Given the description of an element on the screen output the (x, y) to click on. 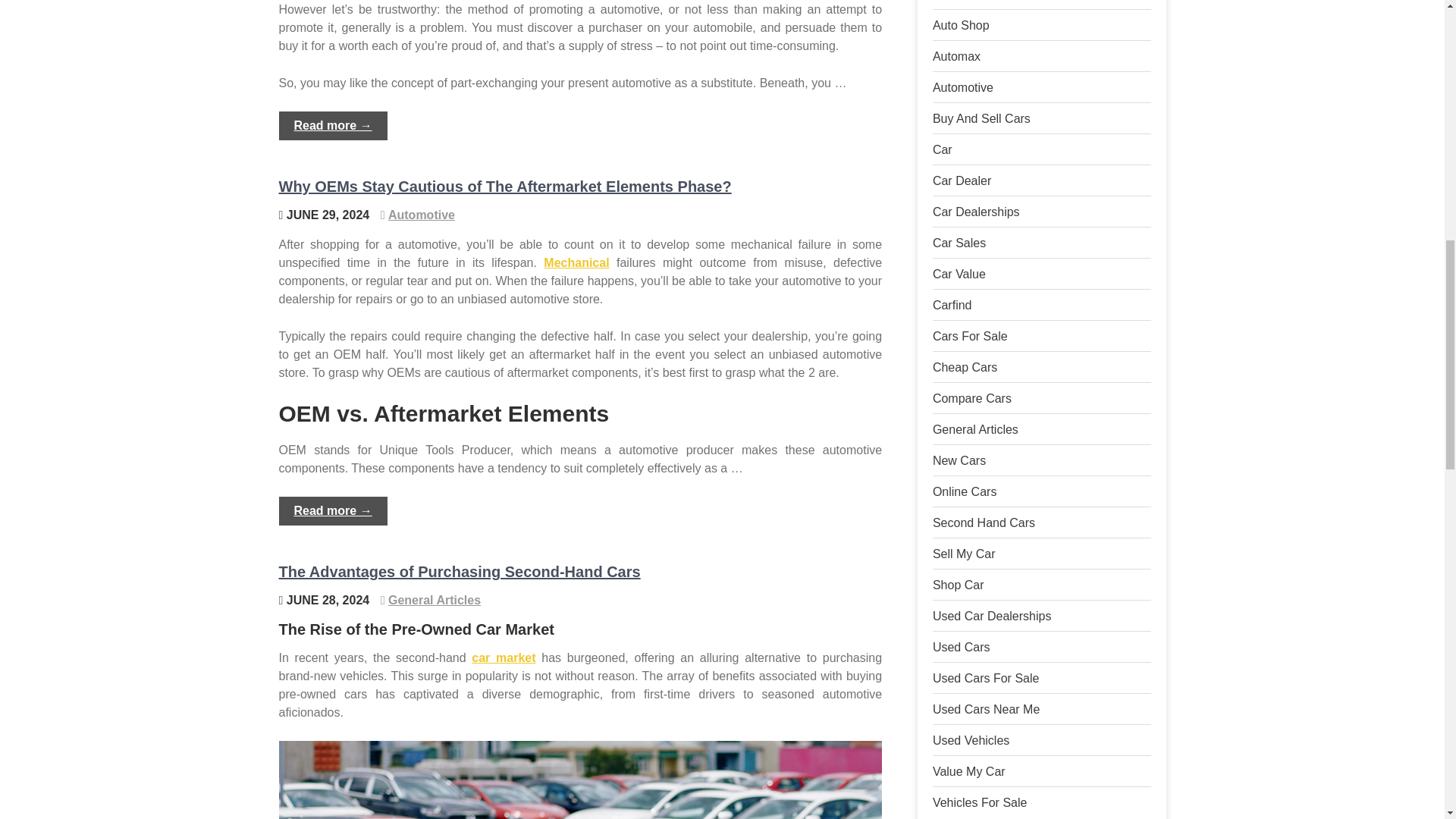
Mechanical (575, 262)
car market (503, 657)
Automotive (421, 214)
The Advantages of Purchasing Second-Hand Cars (459, 571)
Why OEMs Stay Cautious of The Aftermarket Elements Phase? (505, 186)
General Articles (434, 599)
